Given the description of an element on the screen output the (x, y) to click on. 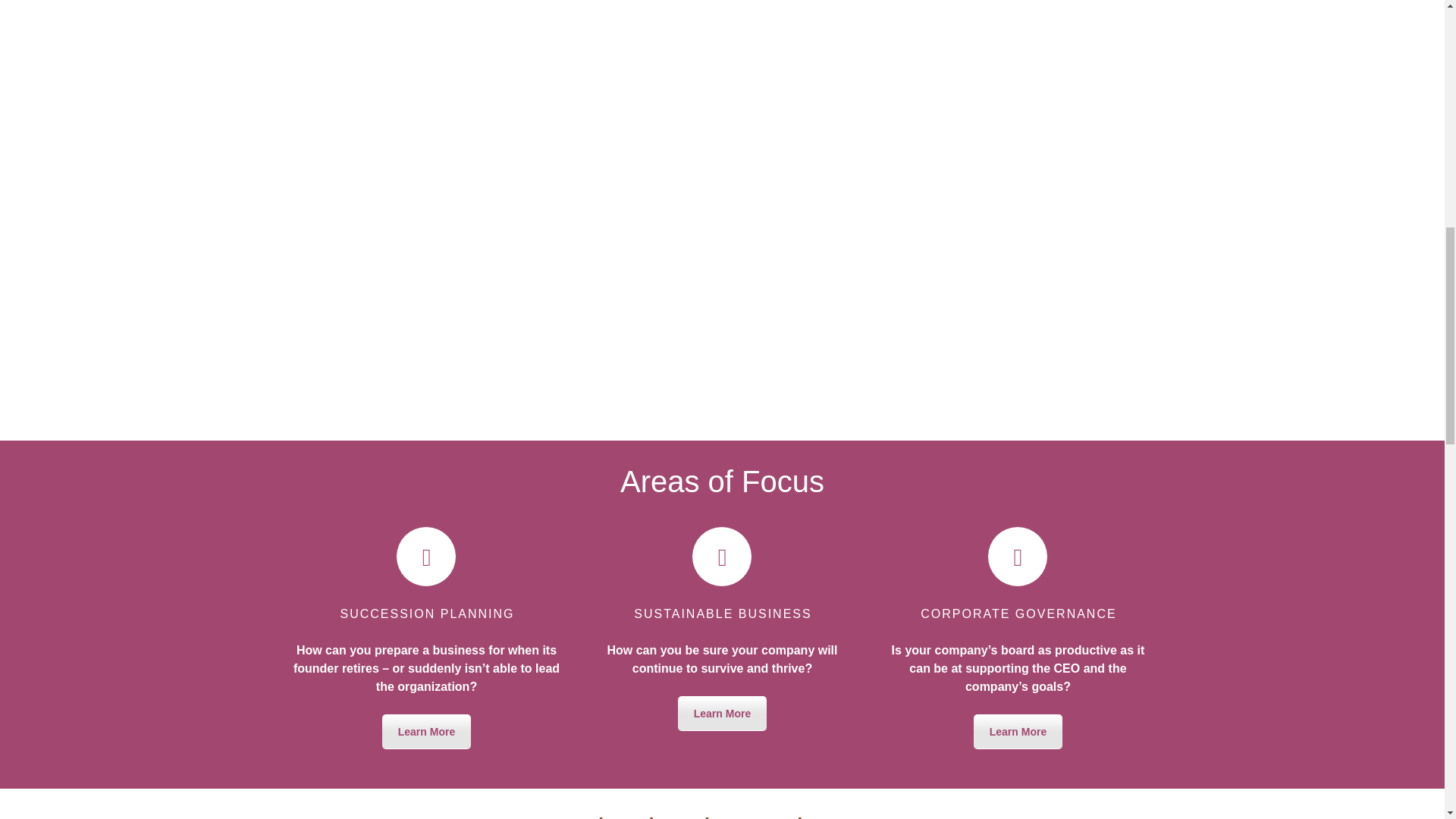
Learn More (722, 713)
Learn More (1018, 731)
Learn More (425, 731)
